Given the description of an element on the screen output the (x, y) to click on. 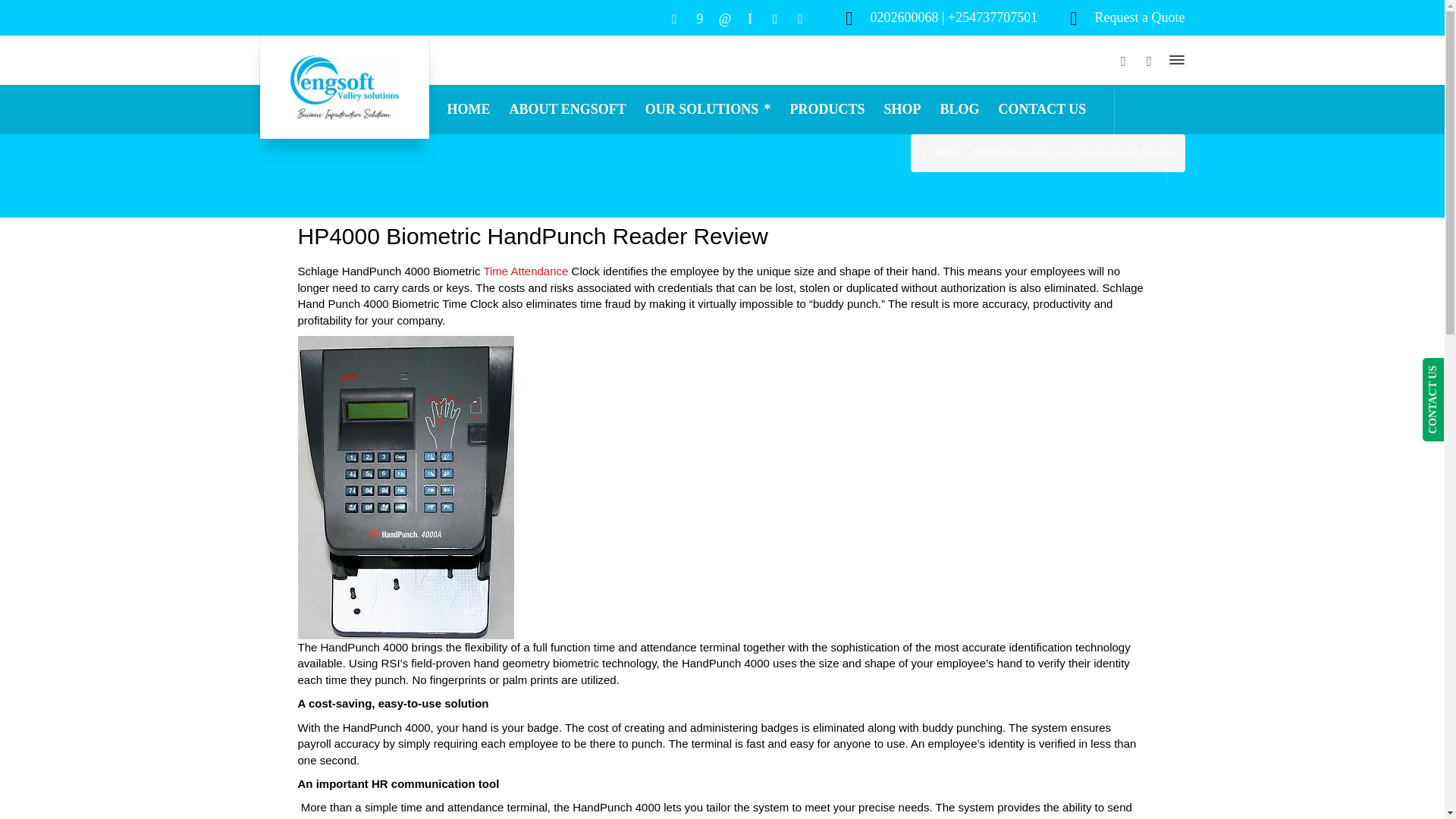
PRODUCTS (827, 109)
YouTube (799, 18)
Facebook (699, 18)
Skype (750, 18)
HOME (469, 109)
Send us free enquiry (1139, 17)
CONTACT US (1042, 109)
OUR SOLUTIONS (708, 109)
SHOP (902, 109)
BLOG (959, 109)
